Given the description of an element on the screen output the (x, y) to click on. 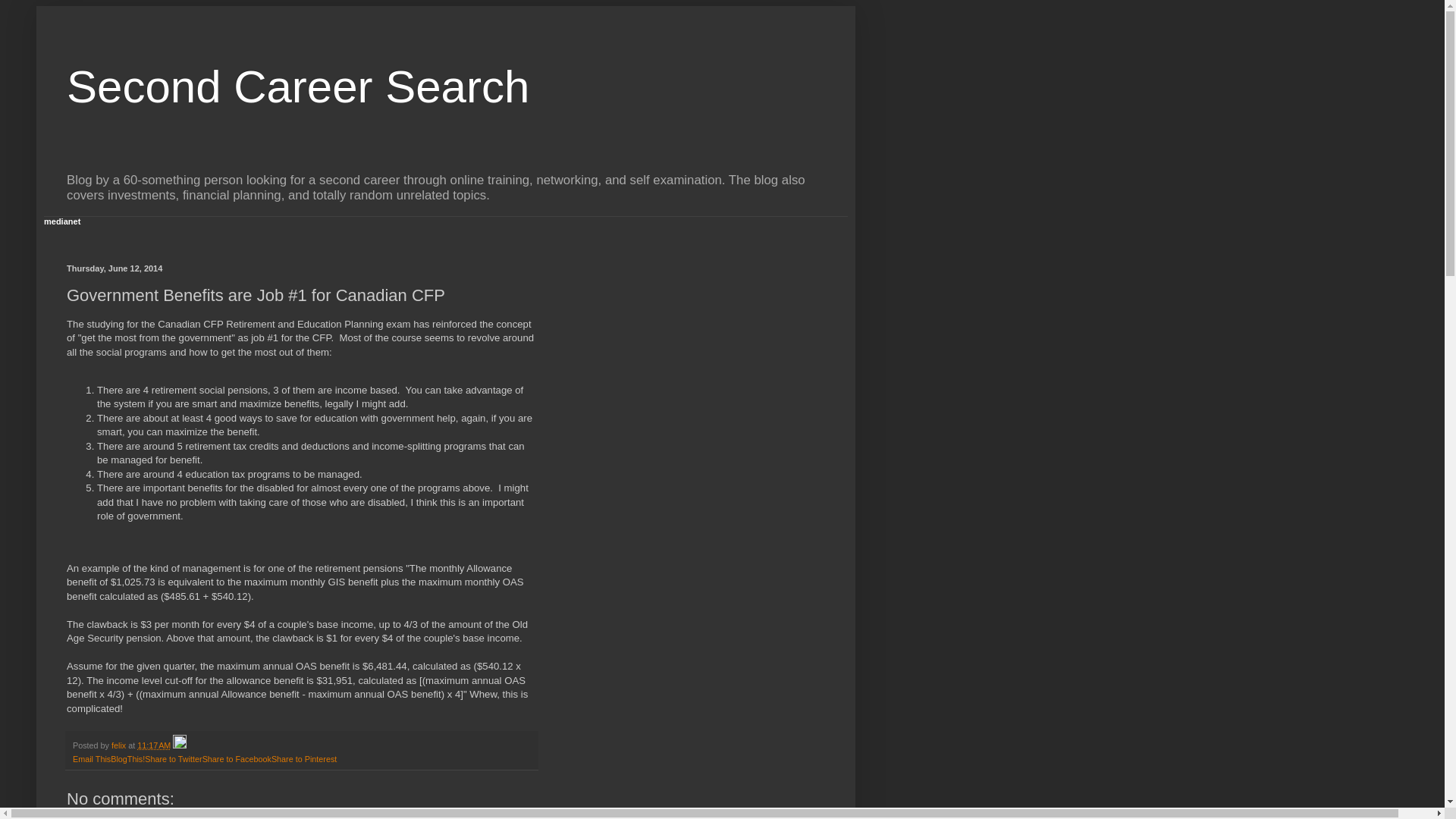
felix Element type: text (119, 744)
Edit Post Element type: hover (179, 744)
BlogThis! Element type: text (127, 757)
Share to Twitter Element type: text (172, 757)
Share to Facebook Element type: text (236, 757)
Email This Element type: text (91, 757)
Share to Pinterest Element type: text (303, 757)
Second Career Search Element type: text (297, 86)
